Given the description of an element on the screen output the (x, y) to click on. 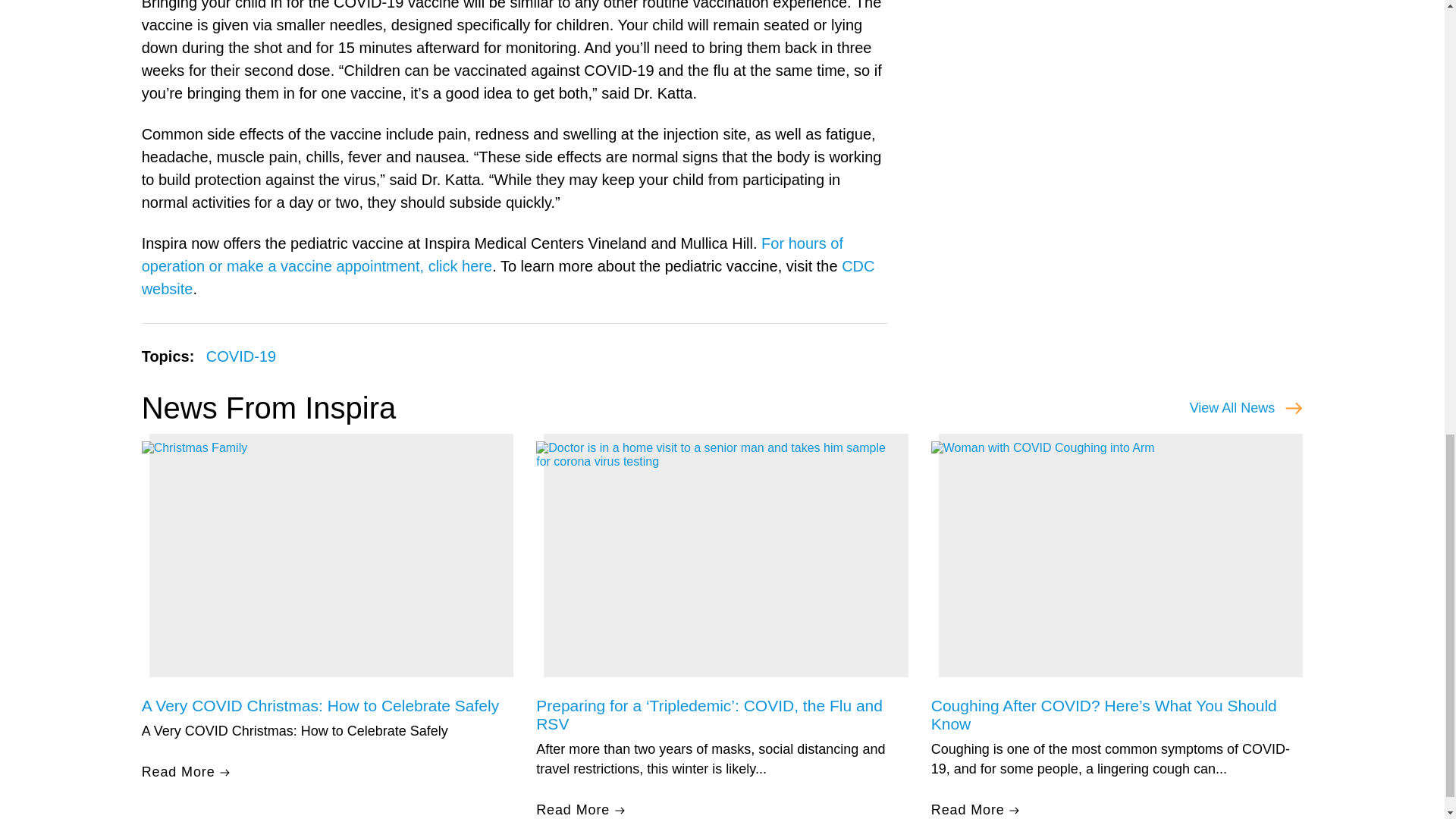
COVID-19 (241, 356)
CDC website (508, 277)
